Given the description of an element on the screen output the (x, y) to click on. 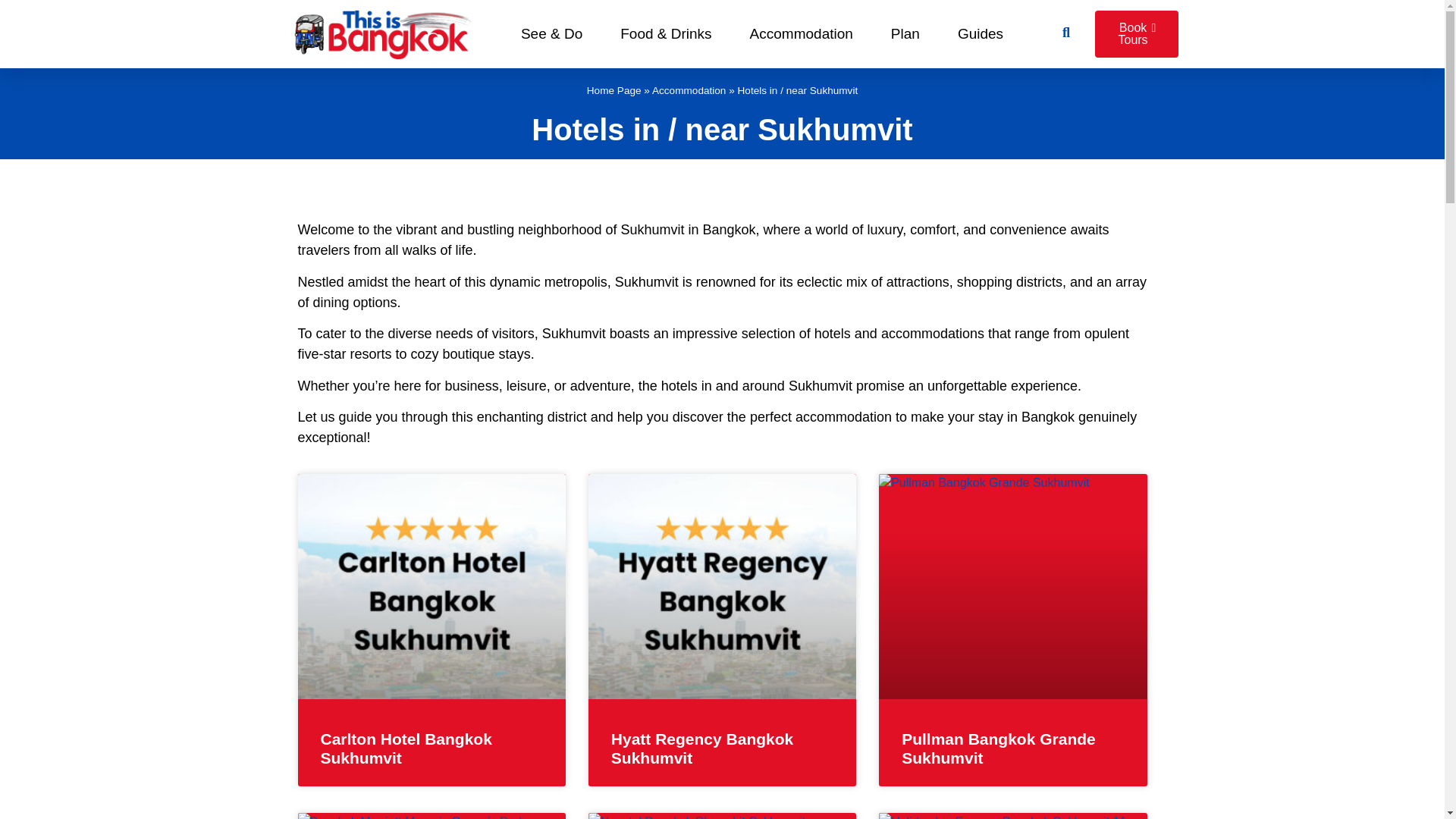
Pullman Bangkok Grande Sukhumvit (998, 748)
Carlton Hotel Bangkok Sukhumvit (406, 748)
Hyatt Regency Bangkok Sukhumvit (702, 748)
Book Tours (1135, 33)
Home Page (614, 90)
Accommodation (688, 90)
Accommodation (801, 33)
